Given the description of an element on the screen output the (x, y) to click on. 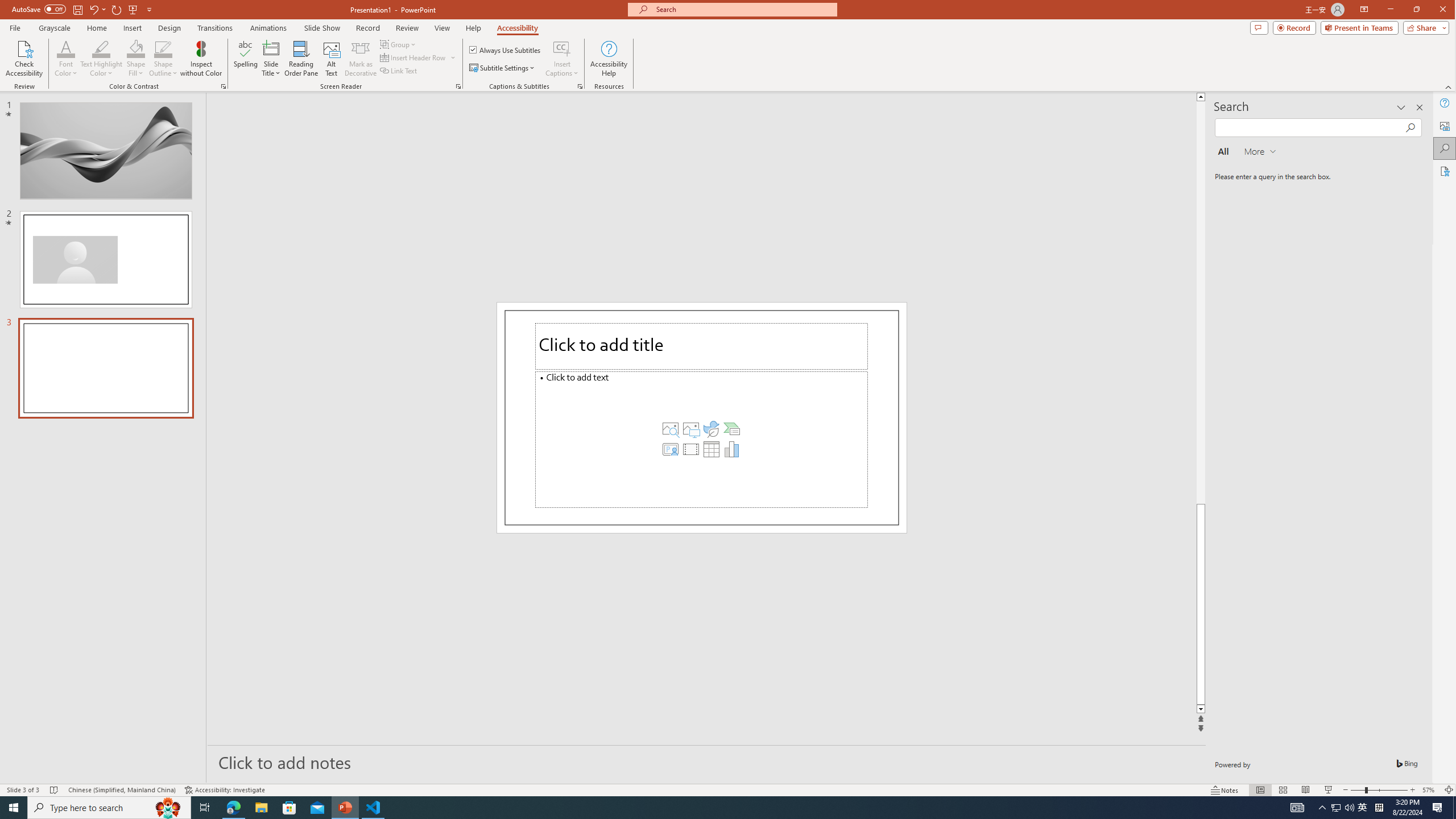
Insert Chart (731, 448)
Always Use Subtitles (505, 49)
Insert a SmartArt Graphic (731, 428)
Insert Video (689, 448)
